Given the description of an element on the screen output the (x, y) to click on. 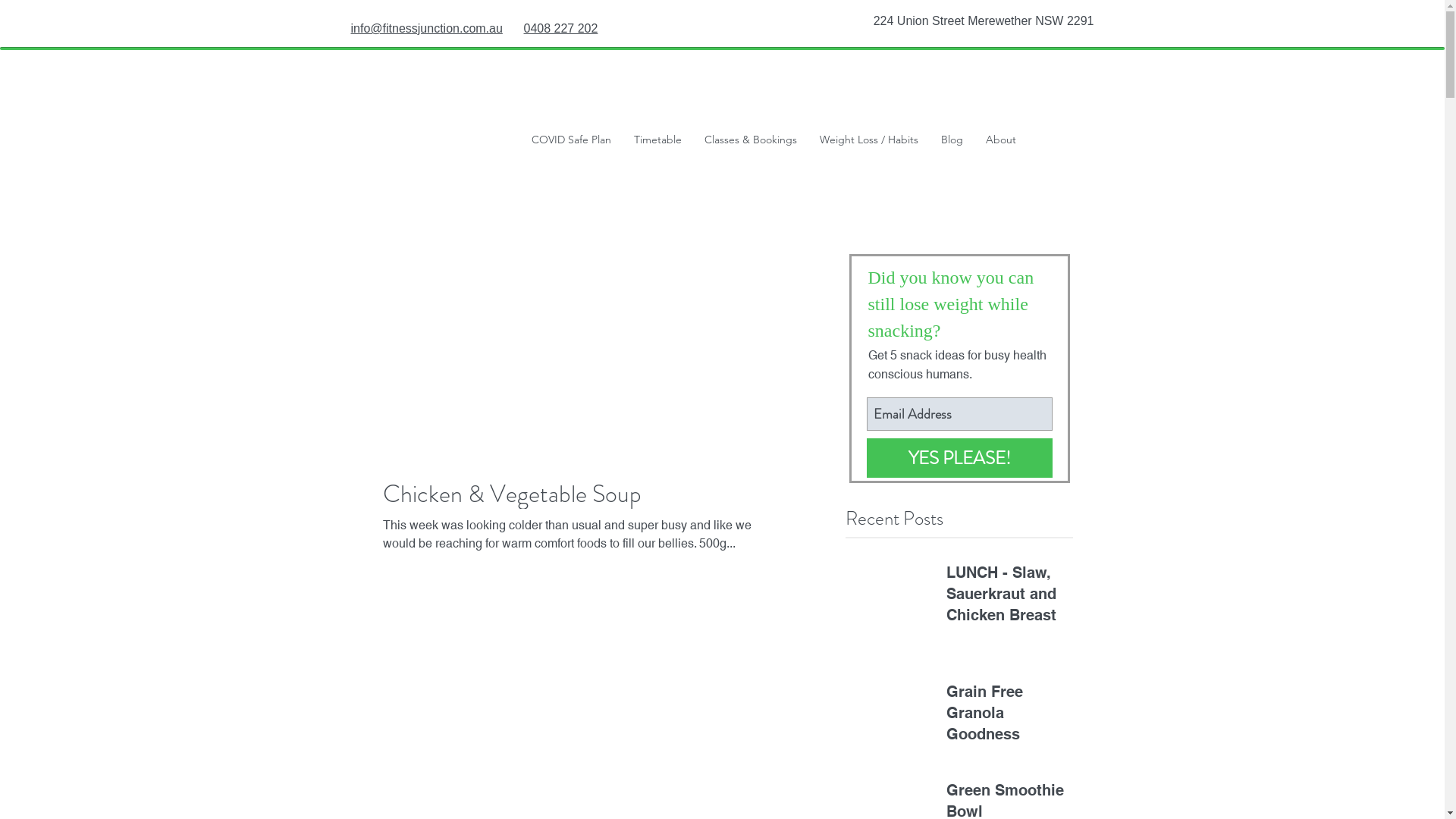
COVID Safe Plan Element type: text (571, 142)
0408 227 202 Element type: text (560, 27)
About Element type: text (999, 142)
Blog Element type: text (951, 142)
Friends Element type: text (1055, 142)
info@fitnessjunction.com.au Element type: text (426, 27)
Classes & Bookings Element type: text (750, 142)
YES PLEASE! Element type: text (958, 457)
Timetable Element type: text (656, 142)
Chicken & Vegetable Soup Element type: text (576, 493)
fitness logo.png Element type: hover (378, 120)
Weight Loss / Habits Element type: text (868, 142)
Grain Free Granola Goodness Element type: text (1006, 715)
LUNCH - Slaw, Sauerkraut and Chicken Breast Element type: text (1006, 596)
